Given the description of an element on the screen output the (x, y) to click on. 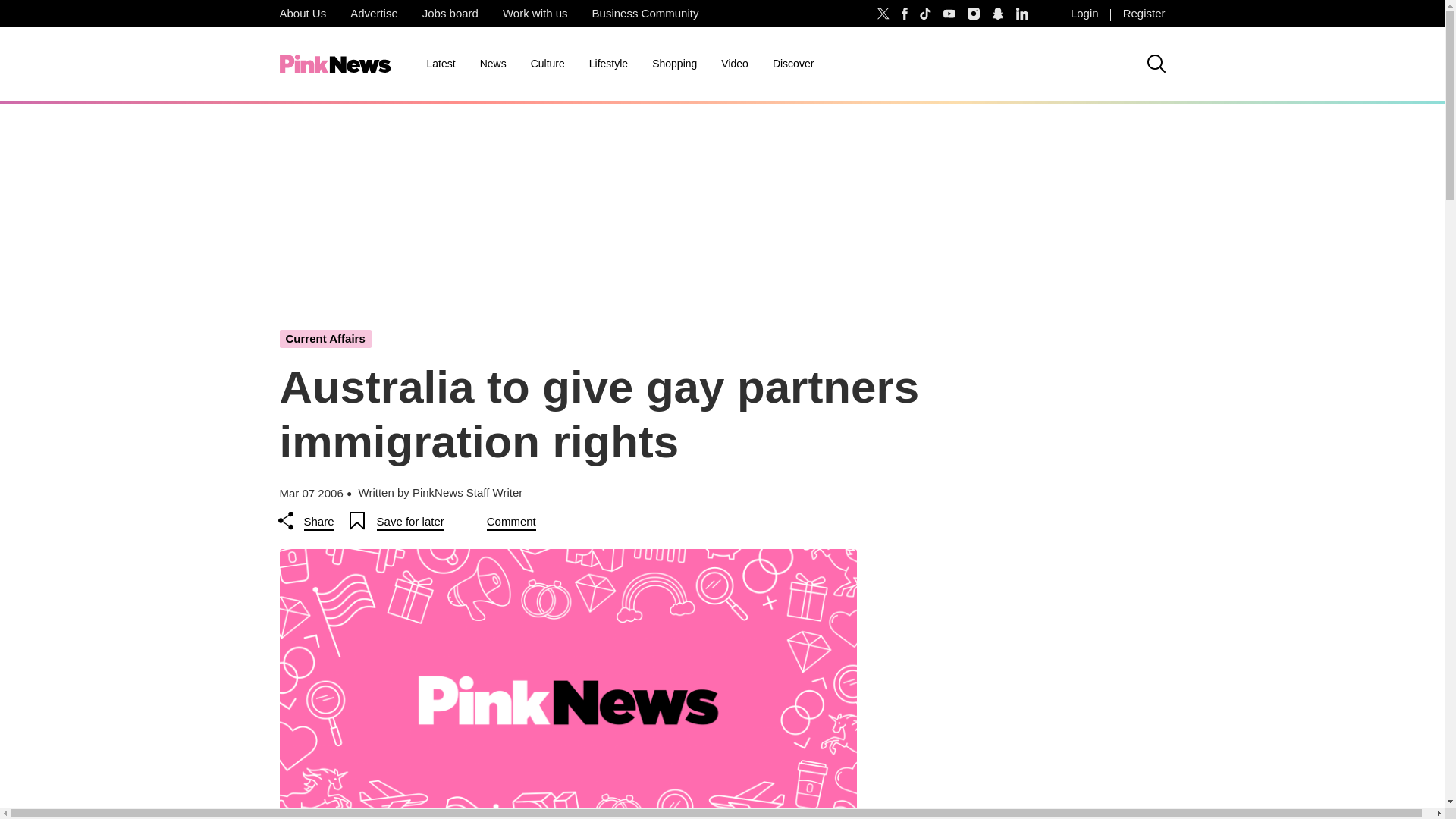
Work with us (534, 13)
Jobs board (450, 13)
About Us (301, 13)
Follow PinkNews on LinkedIn (1021, 13)
Business Community (645, 13)
Lifestyle (608, 63)
Culture (547, 63)
Login (1084, 13)
Advertise (373, 13)
News (493, 63)
